Given the description of an element on the screen output the (x, y) to click on. 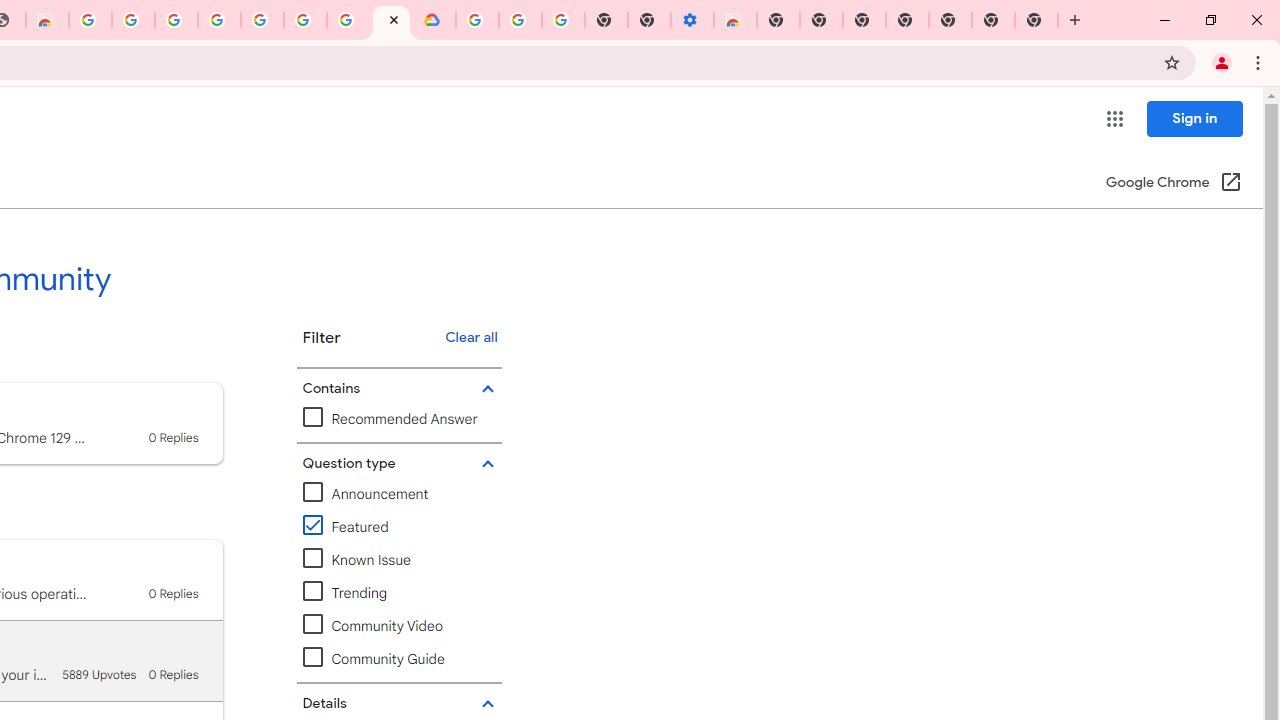
Settings - Accessibility (692, 20)
 Details filter group  (396, 704)
Recommended Answer (389, 419)
Chrome Web Store - Household (47, 20)
Sign in - Google Accounts (219, 20)
Create your Google Account (347, 20)
Trending (344, 593)
Google Account Help (262, 20)
Known Issue (399, 560)
